Given the description of an element on the screen output the (x, y) to click on. 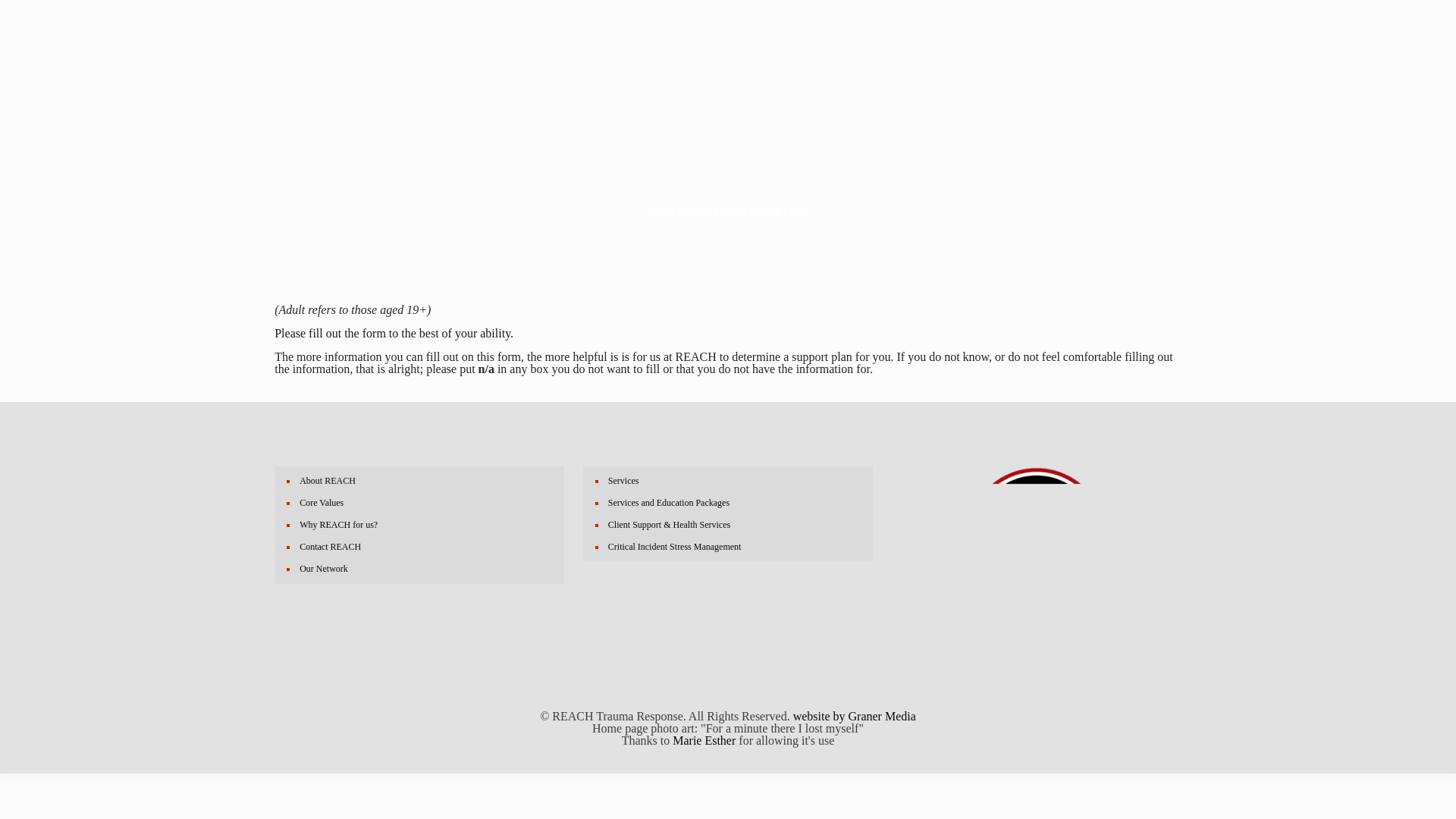
About REACH (426, 481)
Core Values (426, 503)
Marie Esther (703, 739)
Our Network (426, 568)
Why REACH for us? (426, 525)
Services and Education Packages (734, 503)
Critical Incident Stress Management (734, 546)
Contact REACH (426, 546)
Services (734, 481)
website by Graner Media (854, 716)
